Given the description of an element on the screen output the (x, y) to click on. 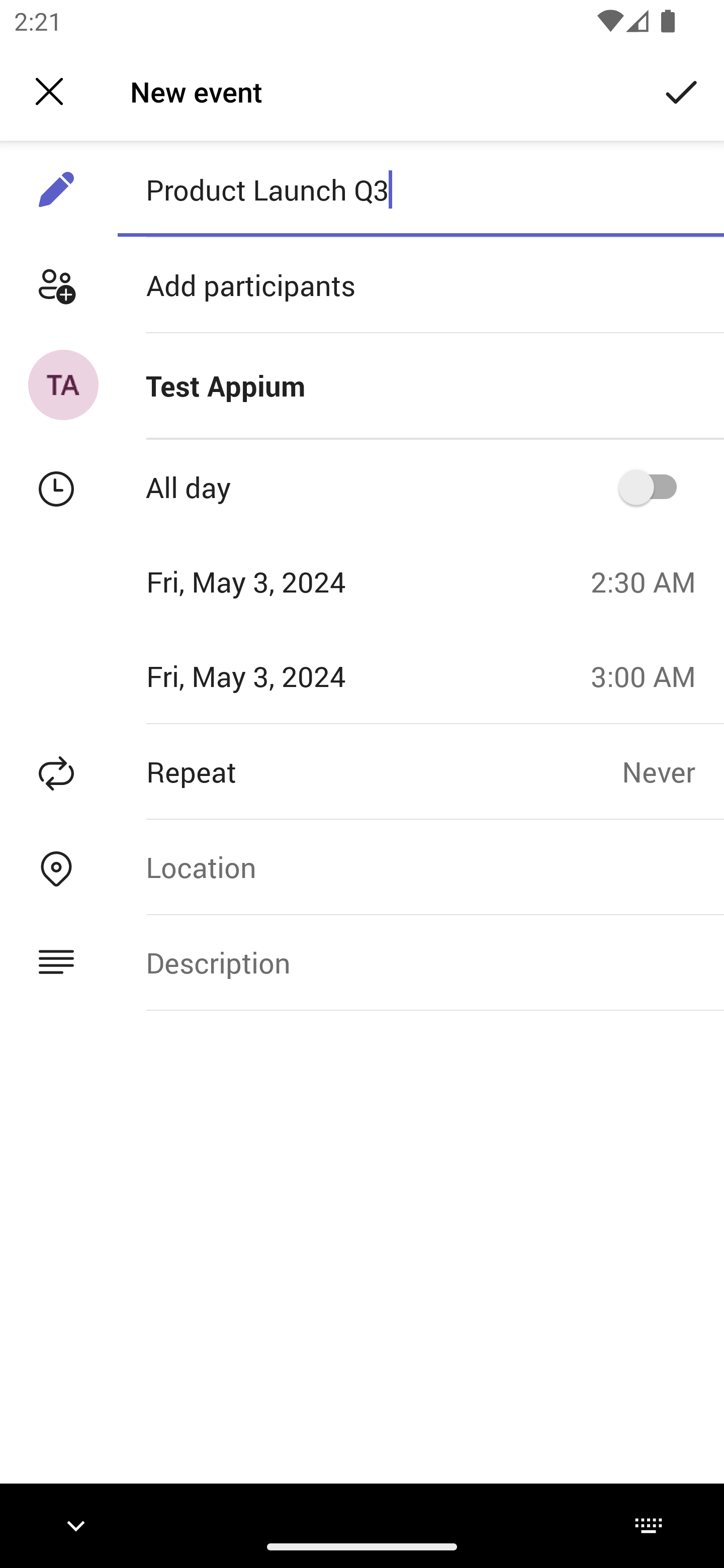
Back (49, 91)
Send invite (681, 90)
Product Launch Q3 (420, 189)
Add participants Add participants option (362, 285)
All day (654, 486)
Fri, May 3, 2024 Starts Friday May 03, 2024 (288, 581)
2:30 AM Start time 2:30 AM (650, 581)
Fri, May 3, 2024 Ends Friday May 03, 2024 (288, 675)
3:00 AM End time 3:00 AM (650, 675)
Repeat (310, 771)
Never Repeat Never (672, 771)
Location (420, 867)
Description (420, 962)
